Given the description of an element on the screen output the (x, y) to click on. 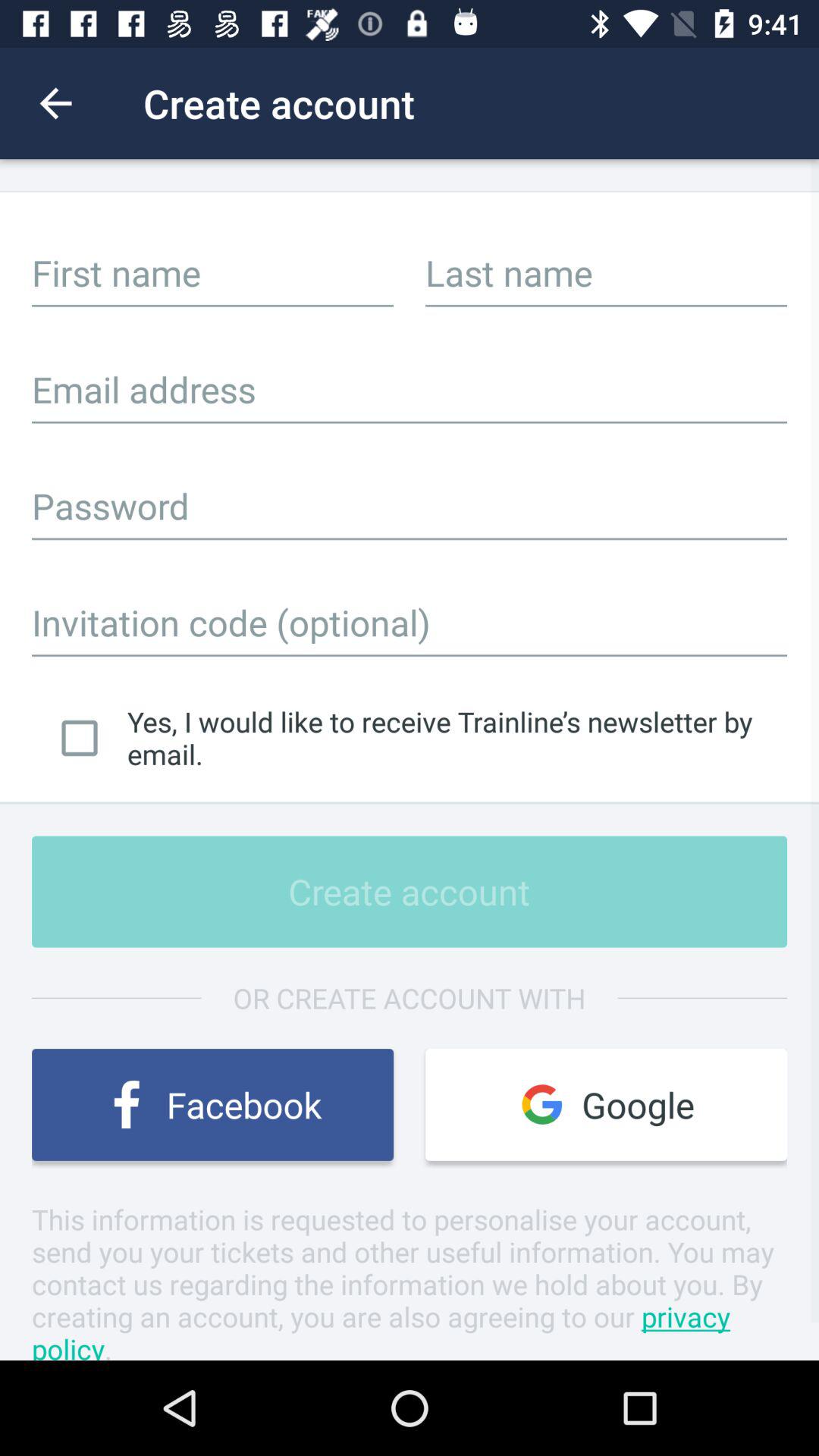
enter email address (409, 389)
